Given the description of an element on the screen output the (x, y) to click on. 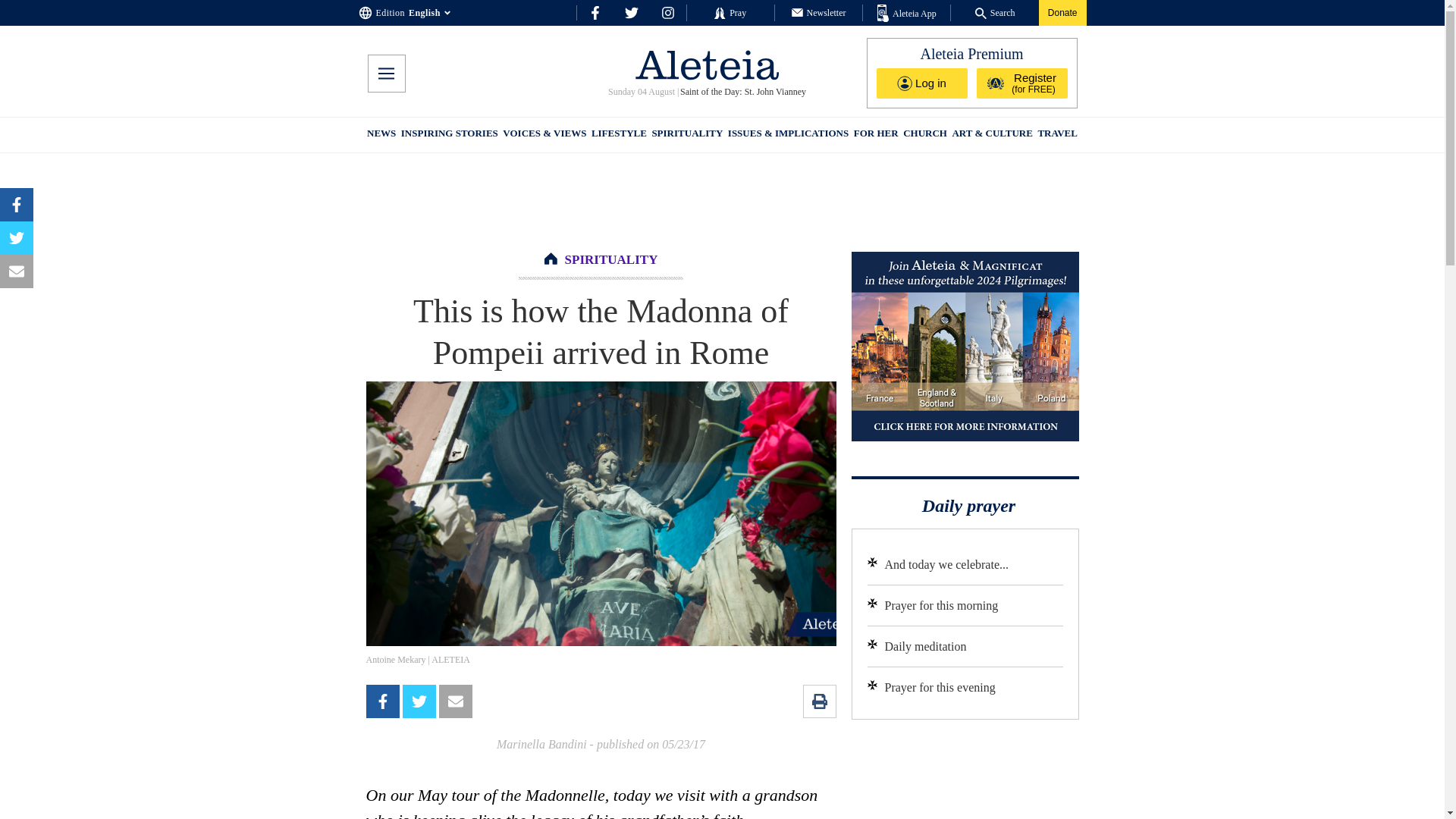
TRAVEL (1056, 134)
mobile-menu-btn (385, 73)
social-tw-top-row (631, 12)
logo-header (706, 64)
FOR HER (875, 134)
social-ig-top-row (668, 12)
Saint of the Day: St. John Vianney (742, 91)
social-fb-top-row (595, 12)
Search (994, 12)
CHURCH (924, 134)
